Given the description of an element on the screen output the (x, y) to click on. 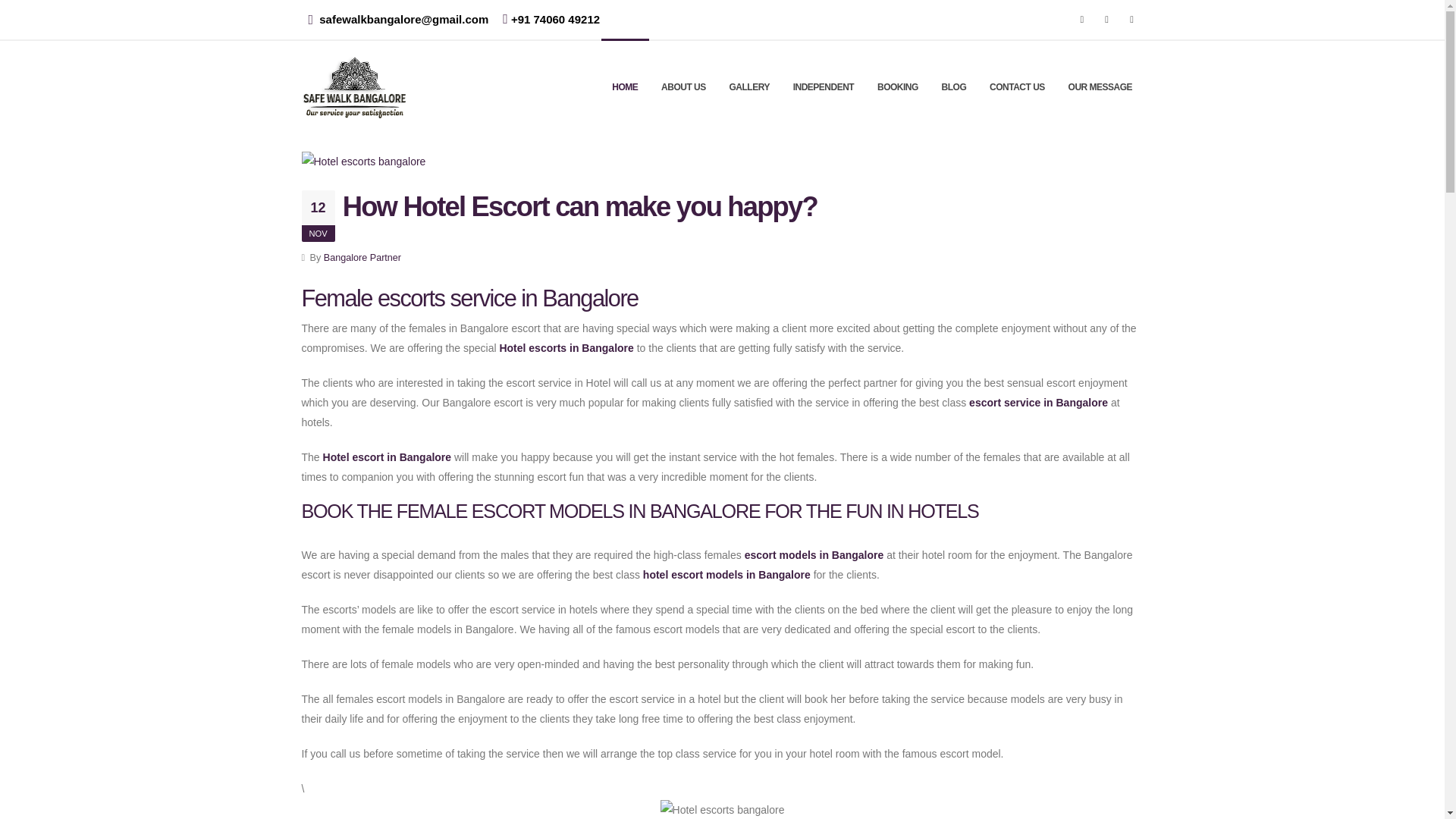
Bangalore Partner (362, 257)
INDEPENDENT (822, 86)
Hotel escorts in Bangalore (566, 347)
escort service in Bangalore (1039, 402)
How Hotel Escort can make you happy? (579, 205)
escort models in Bangalore (813, 554)
Linkedin (1131, 19)
Twitter (1107, 19)
Facebook (1082, 19)
